Given the description of an element on the screen output the (x, y) to click on. 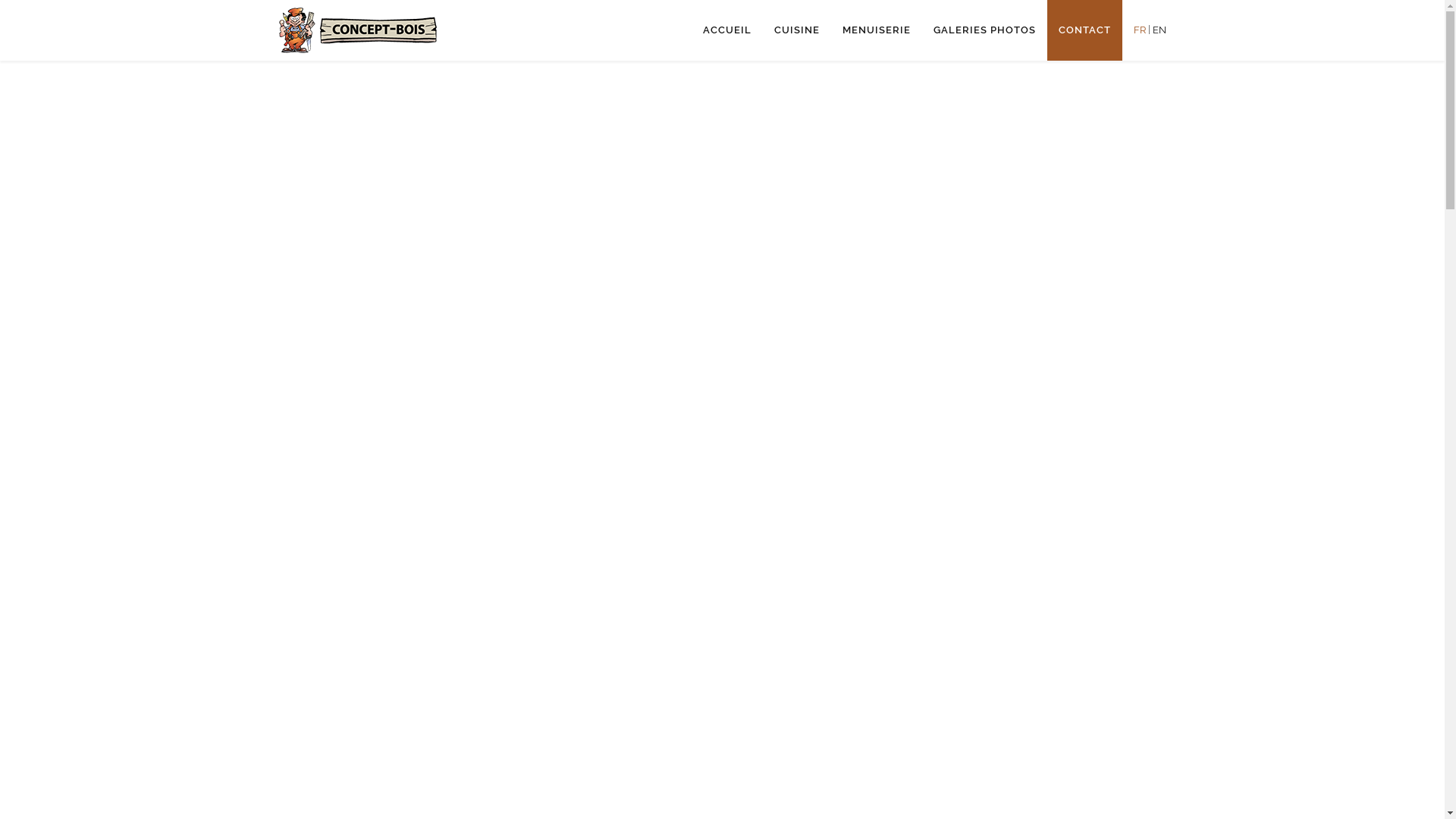
MENUISERIE Element type: text (876, 30)
EN Element type: text (1159, 29)
CONTACT Element type: text (1083, 30)
ACCUEIL Element type: text (726, 30)
CUISINE Element type: text (796, 30)
GALERIES PHOTOS Element type: text (984, 30)
